Given the description of an element on the screen output the (x, y) to click on. 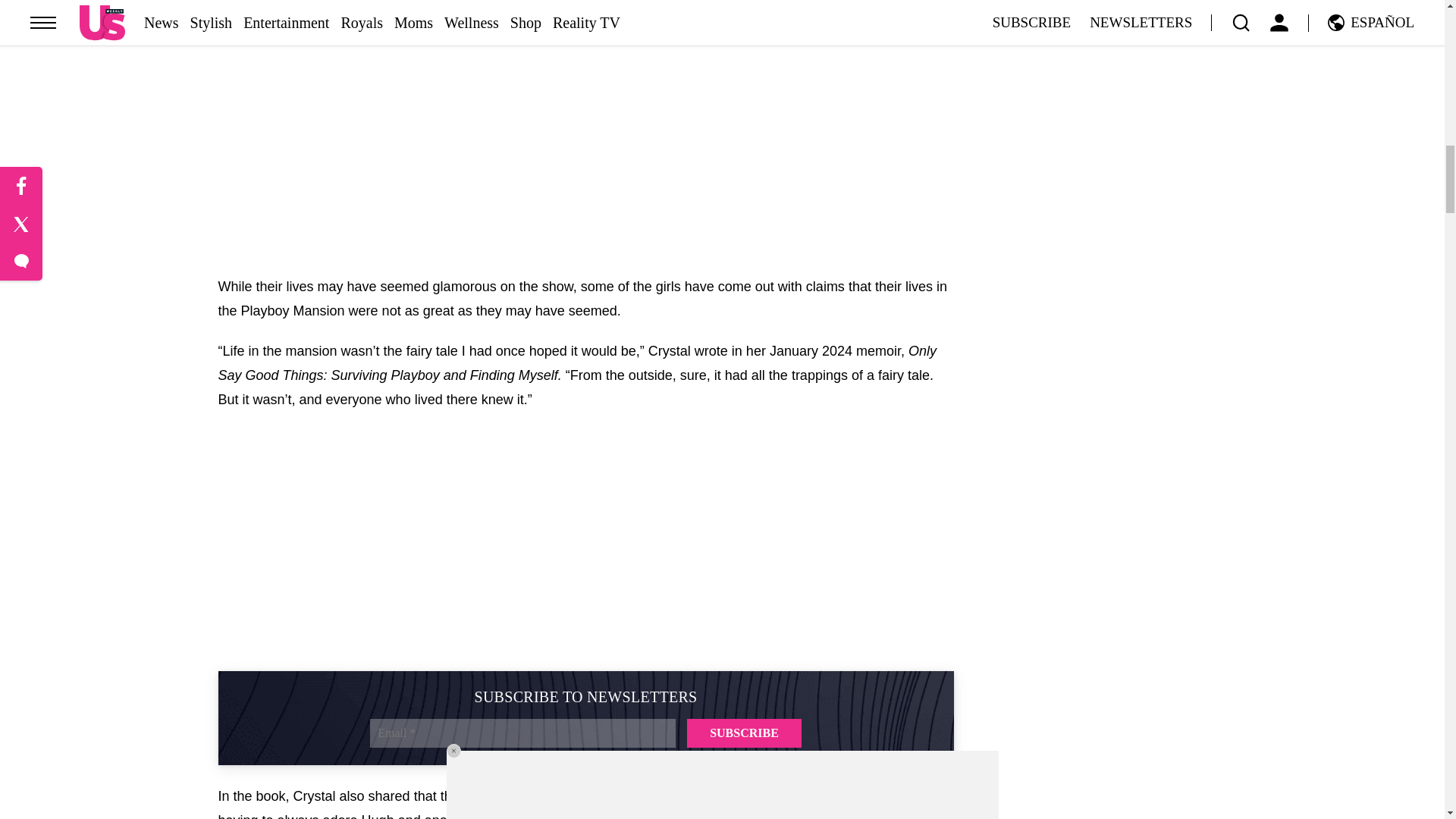
3rd party ad content (584, 539)
